Given the description of an element on the screen output the (x, y) to click on. 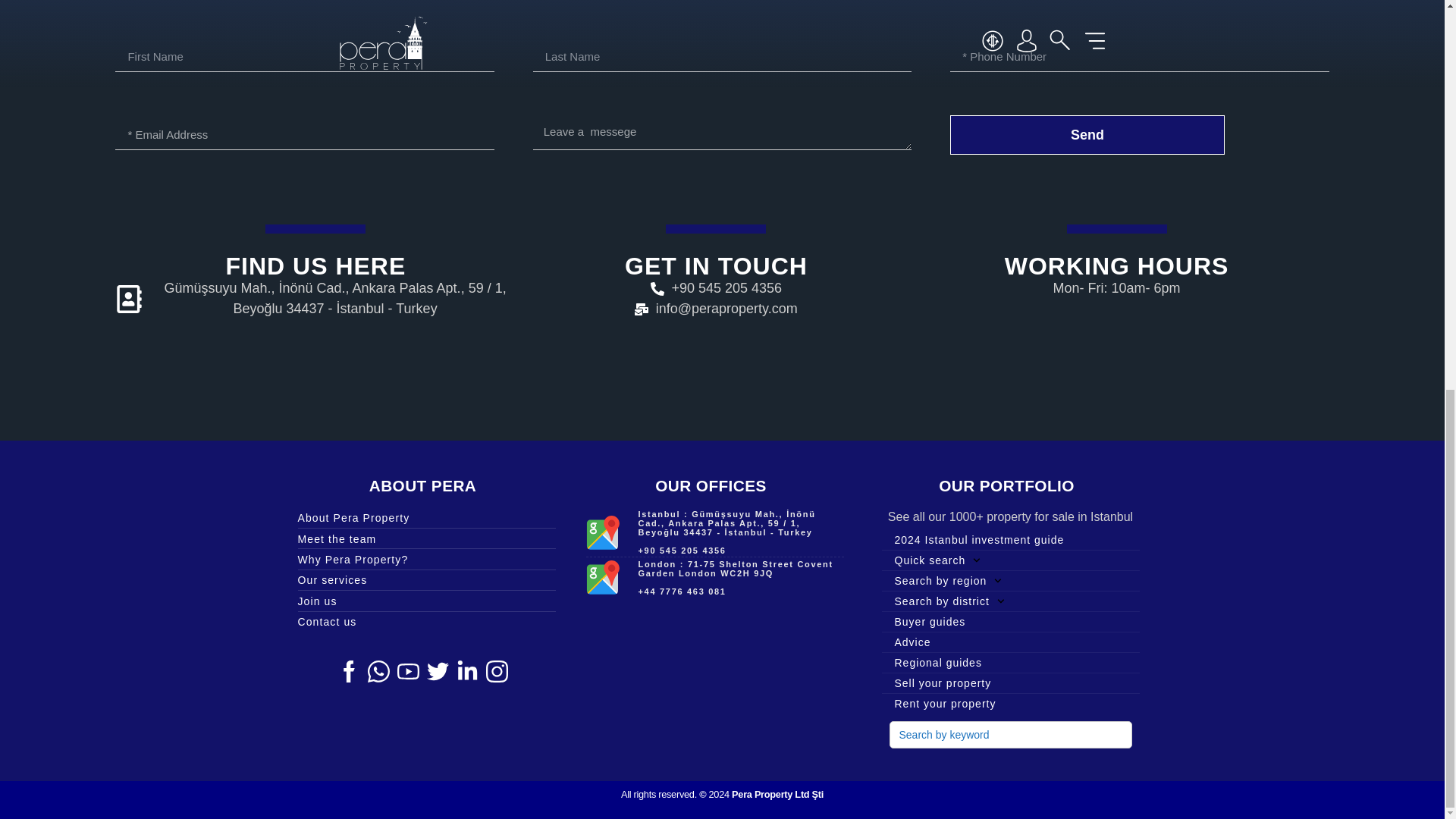
Quick search (1009, 560)
Our services (425, 579)
Join us (425, 600)
Contact us (425, 621)
Send (1087, 134)
Why Pera Property? (425, 559)
2024 Istanbul investment guide (1009, 539)
Meet the team (425, 538)
About Pera Property (425, 517)
